Given the description of an element on the screen output the (x, y) to click on. 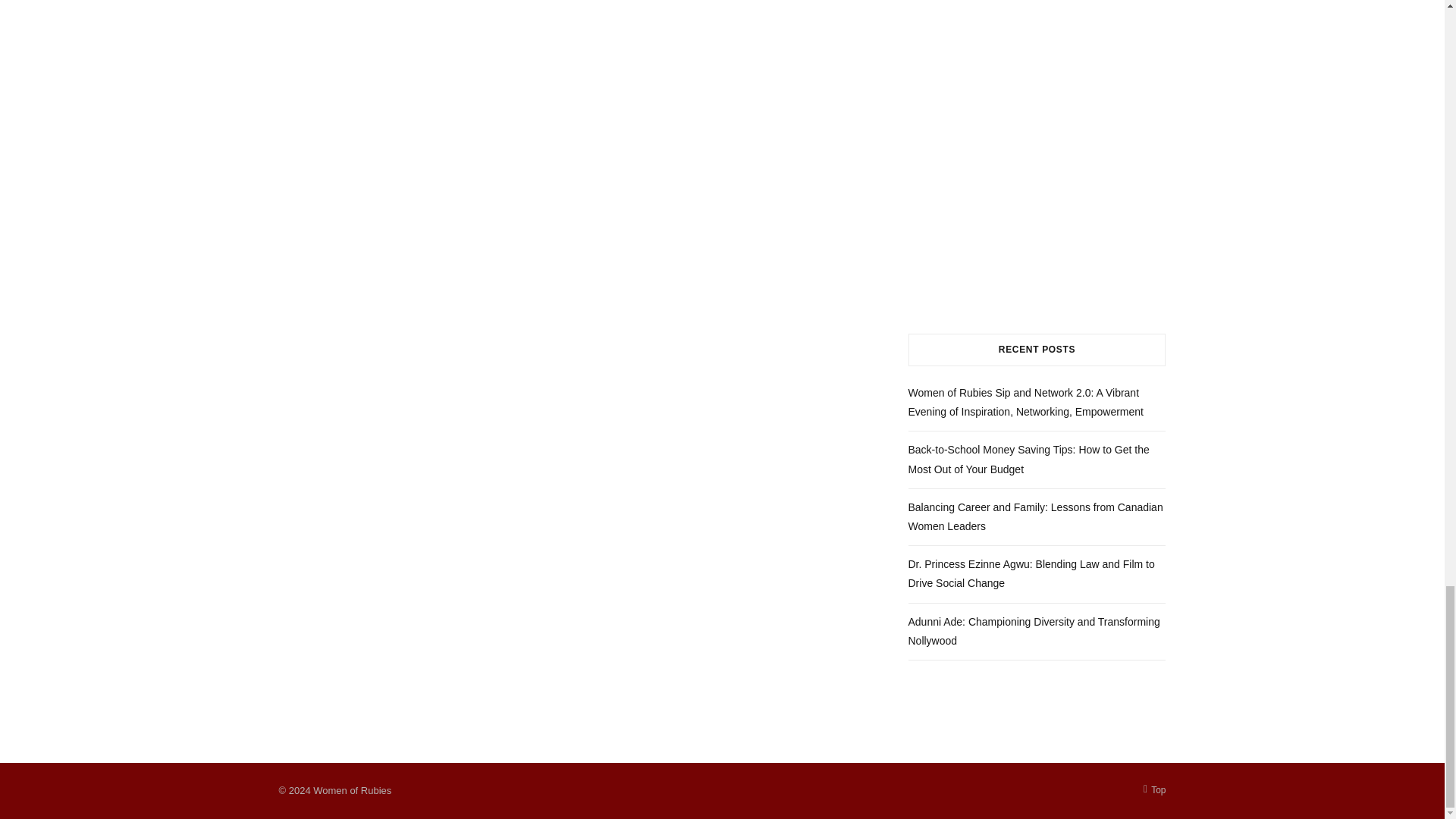
Adunni Ade: Championing Diversity and Transforming Nollywood (1034, 631)
Top (1154, 790)
